Given the description of an element on the screen output the (x, y) to click on. 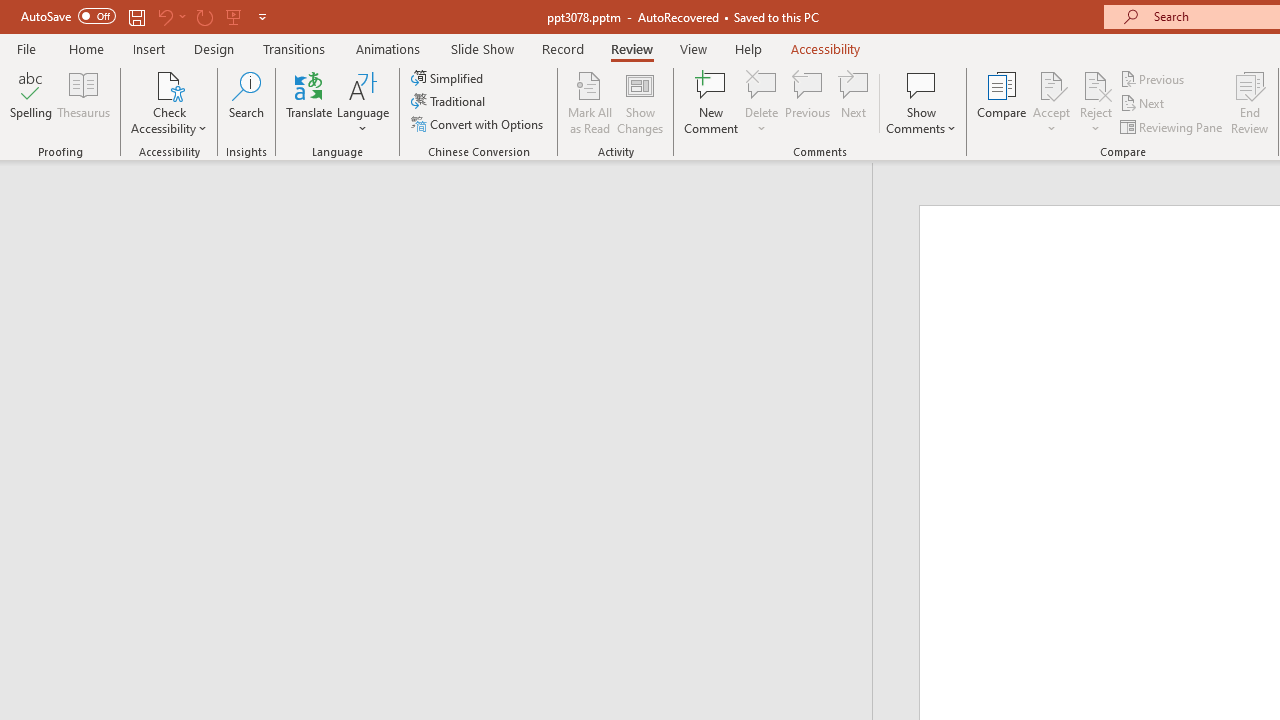
Spelling... (31, 102)
Search (246, 102)
Convert with Options... (479, 124)
Previous (1153, 78)
Accept (1051, 102)
Translate (309, 102)
Compare (1002, 102)
Thesaurus... (83, 102)
